Given the description of an element on the screen output the (x, y) to click on. 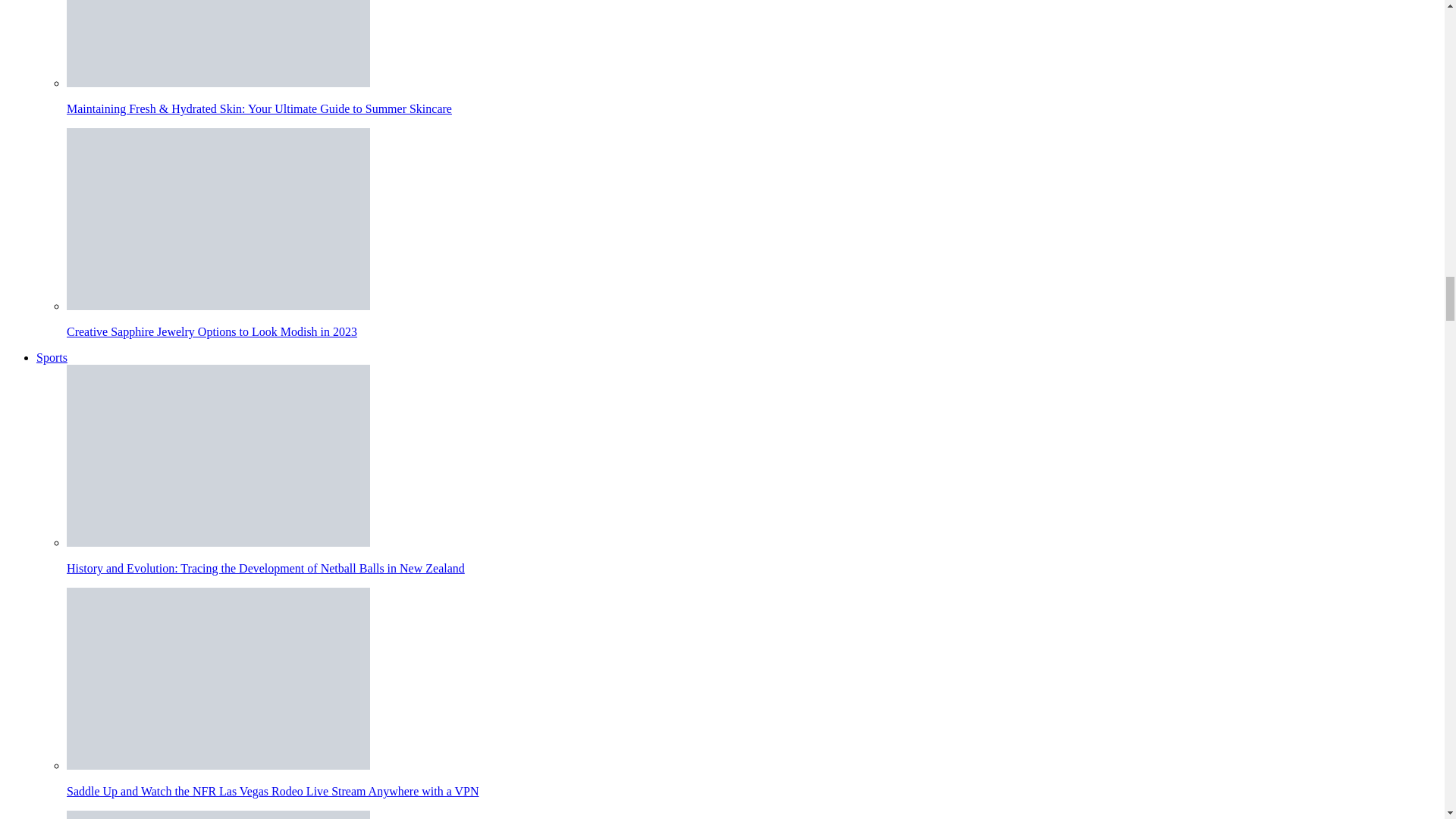
Sports (51, 357)
